Given the description of an element on the screen output the (x, y) to click on. 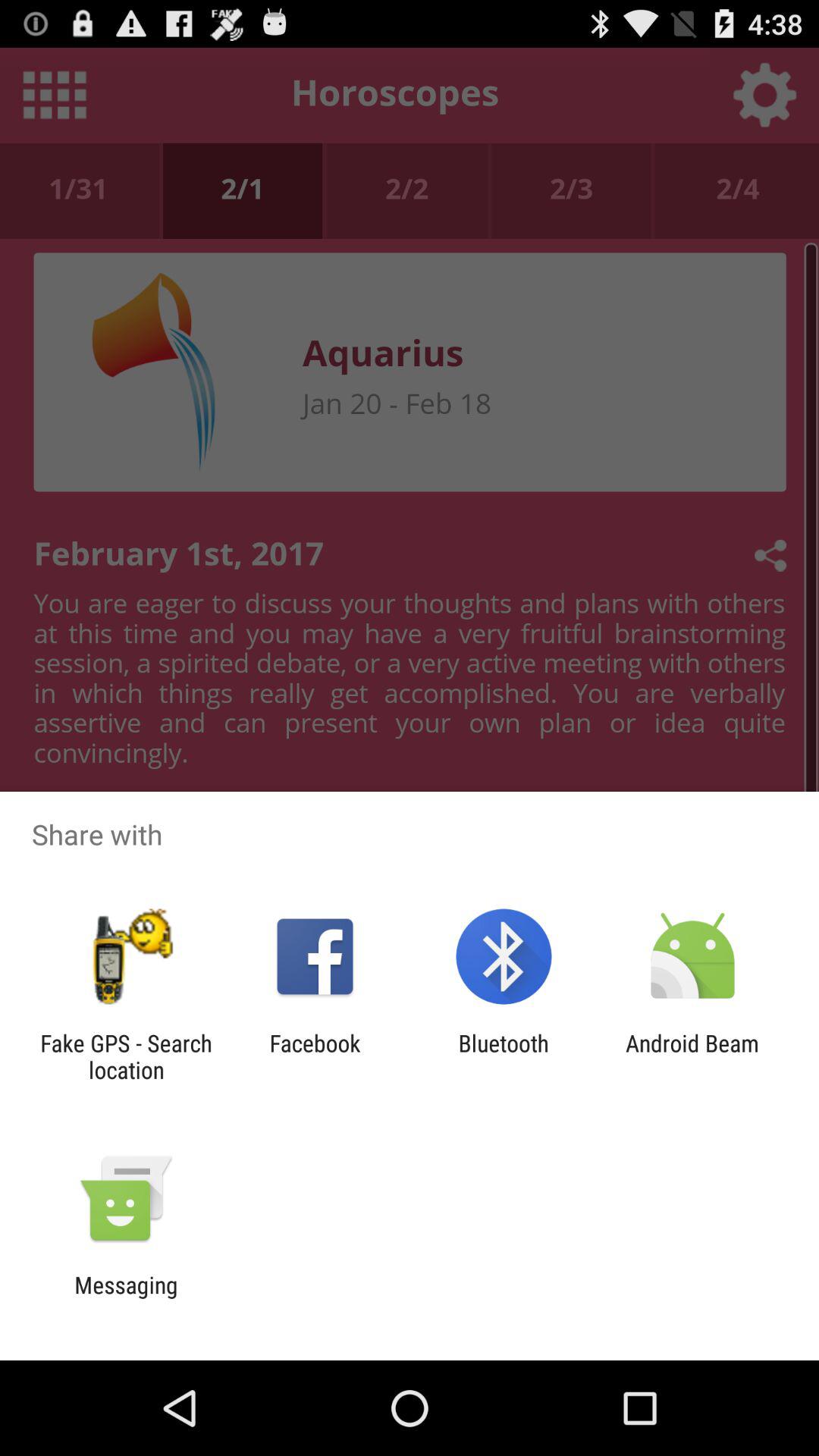
select item to the left of the android beam item (503, 1056)
